Given the description of an element on the screen output the (x, y) to click on. 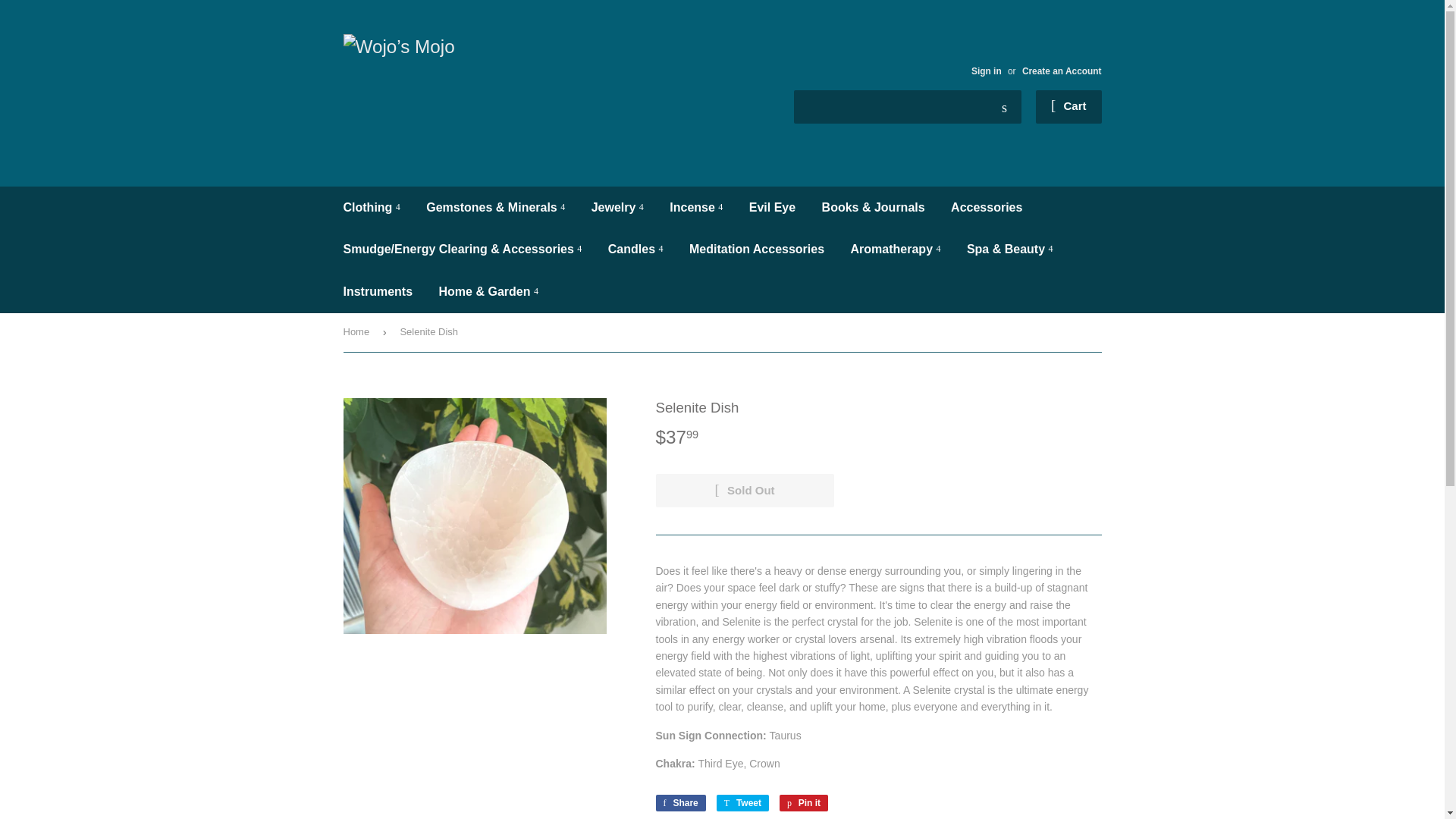
Create an Account (1062, 71)
Pin on Pinterest (803, 802)
Share on Facebook (679, 802)
Tweet on Twitter (742, 802)
Sign in (986, 71)
Search (1004, 107)
Cart (1068, 106)
